Given the description of an element on the screen output the (x, y) to click on. 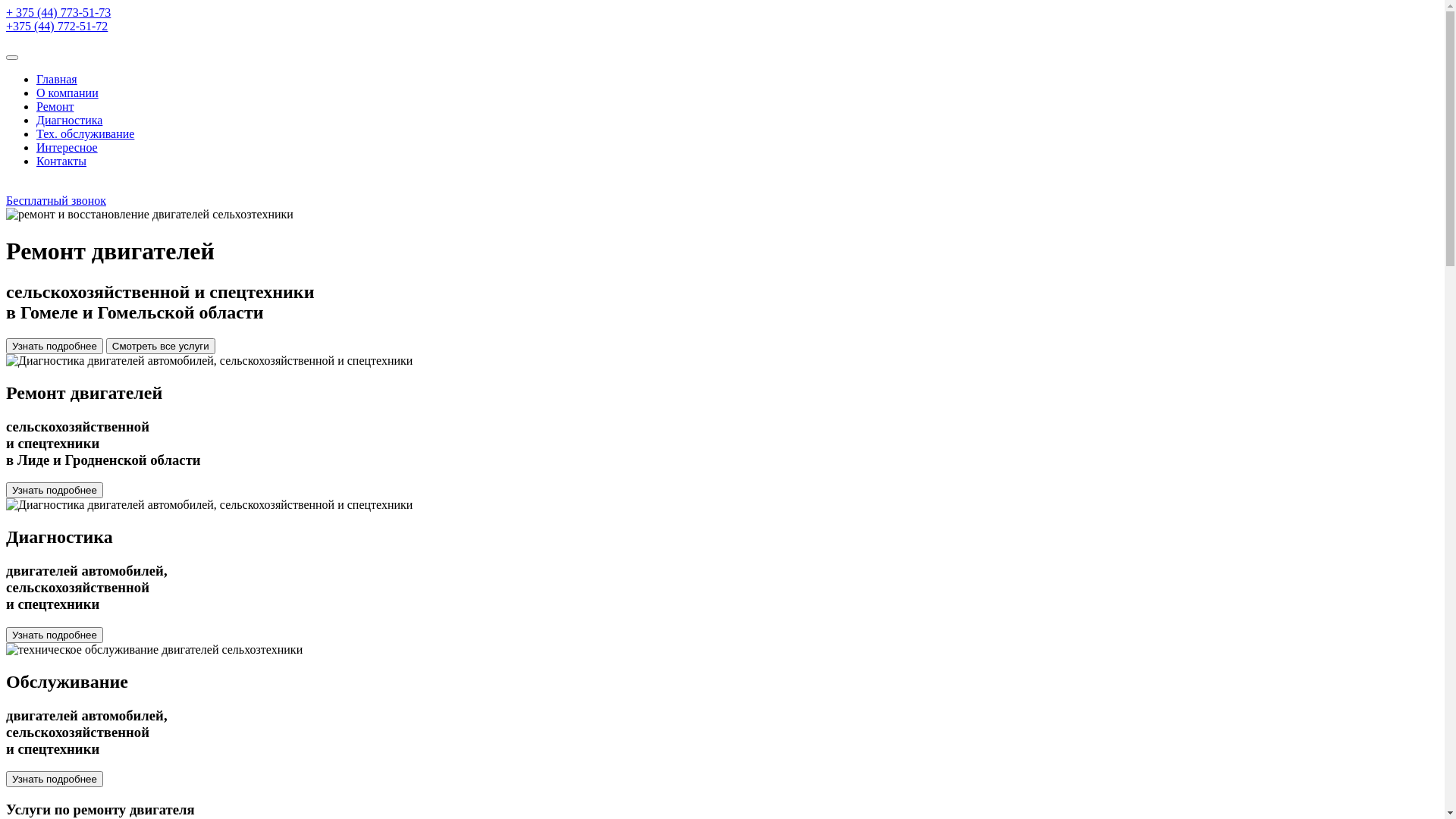
+ 375 (44) 773-51-73 Element type: text (58, 12)
+375 (44) 772-51-72 Element type: text (56, 25)
